Given the description of an element on the screen output the (x, y) to click on. 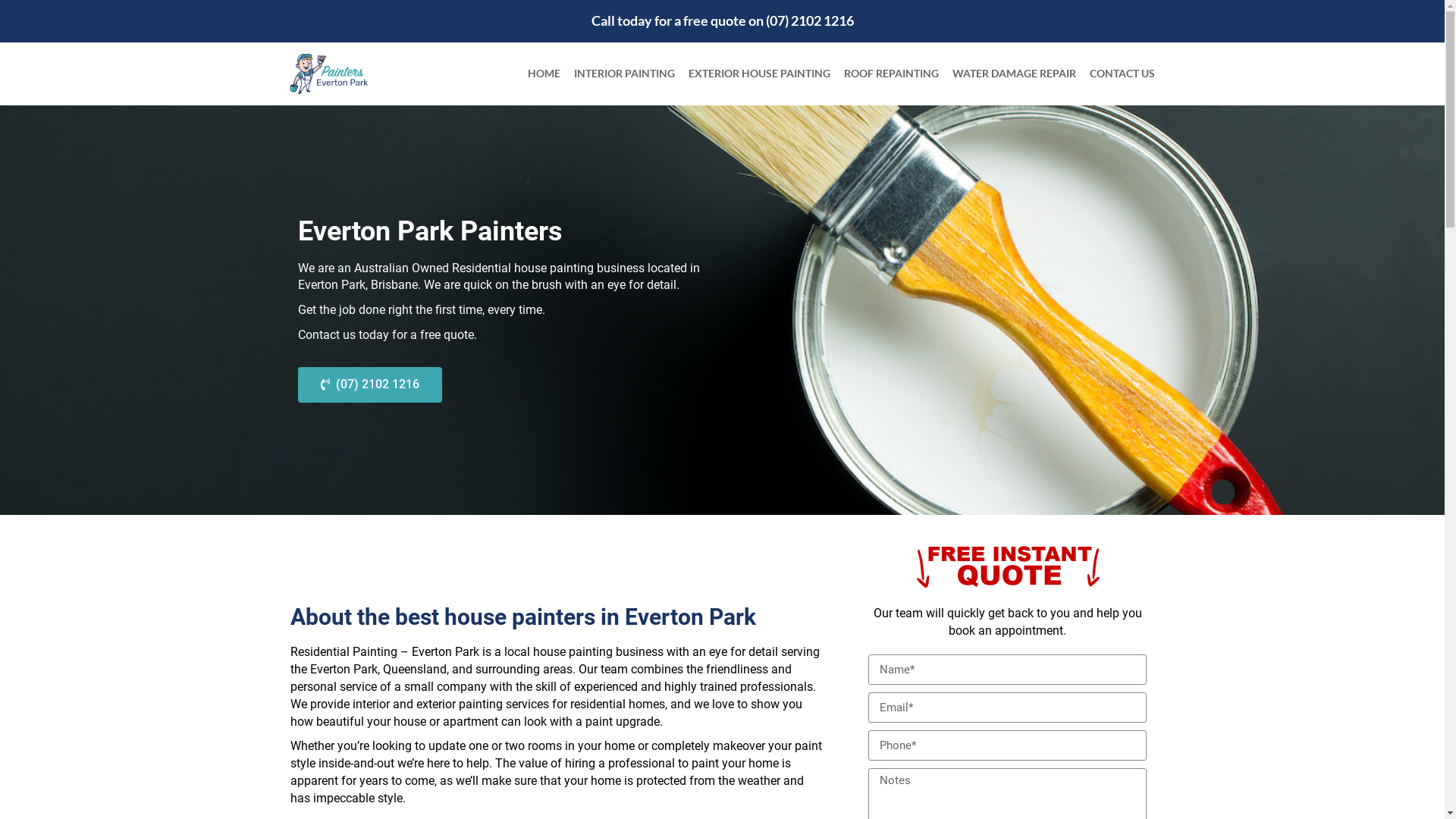
WATER DAMAGE REPAIR Element type: text (1014, 72)
(07) 2102 1216 Element type: text (369, 384)
Everton Park Painters Element type: hover (328, 73)
EXTERIOR HOUSE PAINTING Element type: text (759, 72)
ROOF REPAINTING Element type: text (890, 72)
Call today for a free quote on (07) 2102 1216 Element type: text (722, 20)
CONTACT US Element type: text (1121, 72)
HOME Element type: text (543, 72)
INTERIOR PAINTING Element type: text (623, 72)
